Given the description of an element on the screen output the (x, y) to click on. 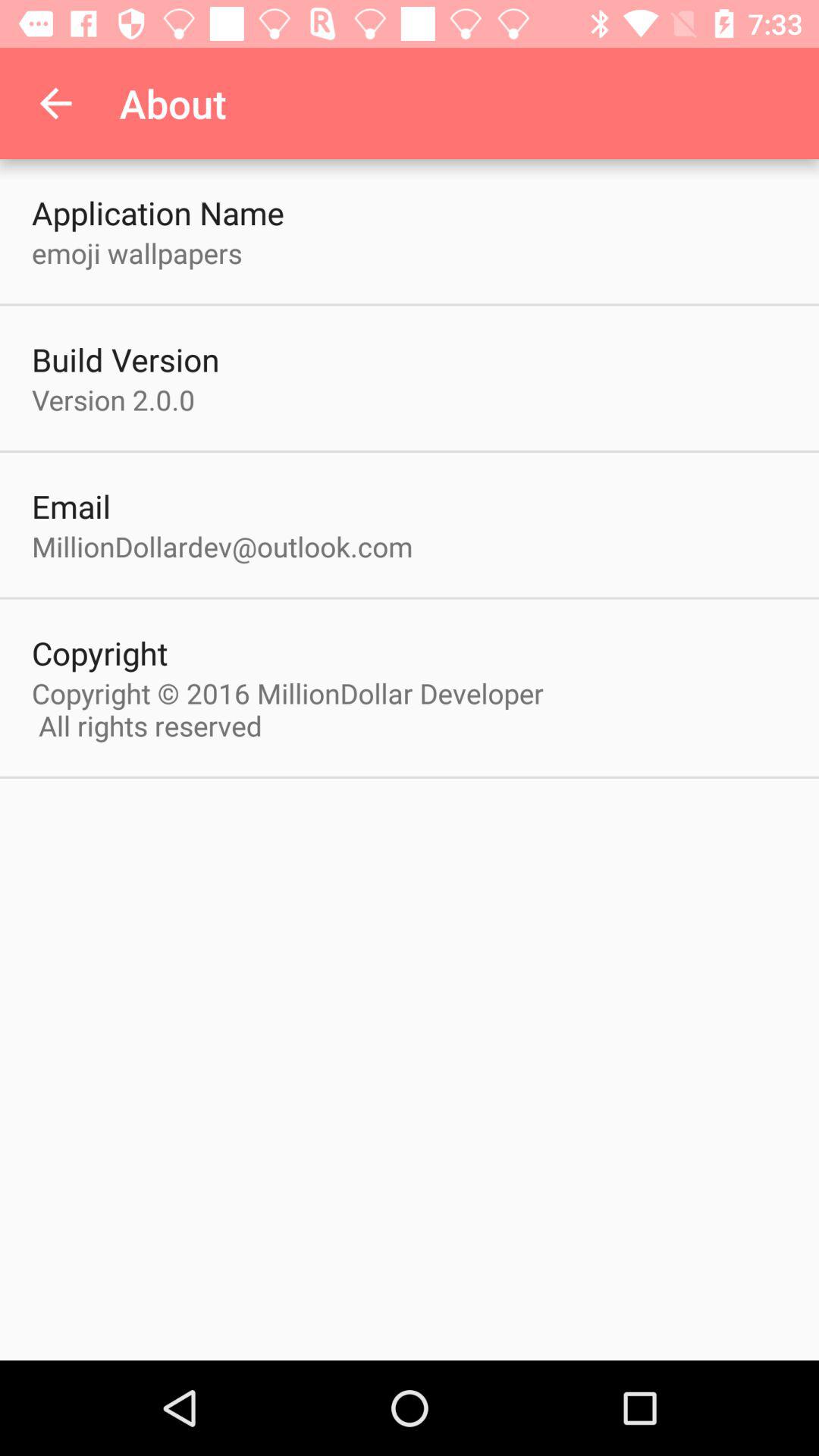
turn off the icon above application name icon (55, 103)
